Given the description of an element on the screen output the (x, y) to click on. 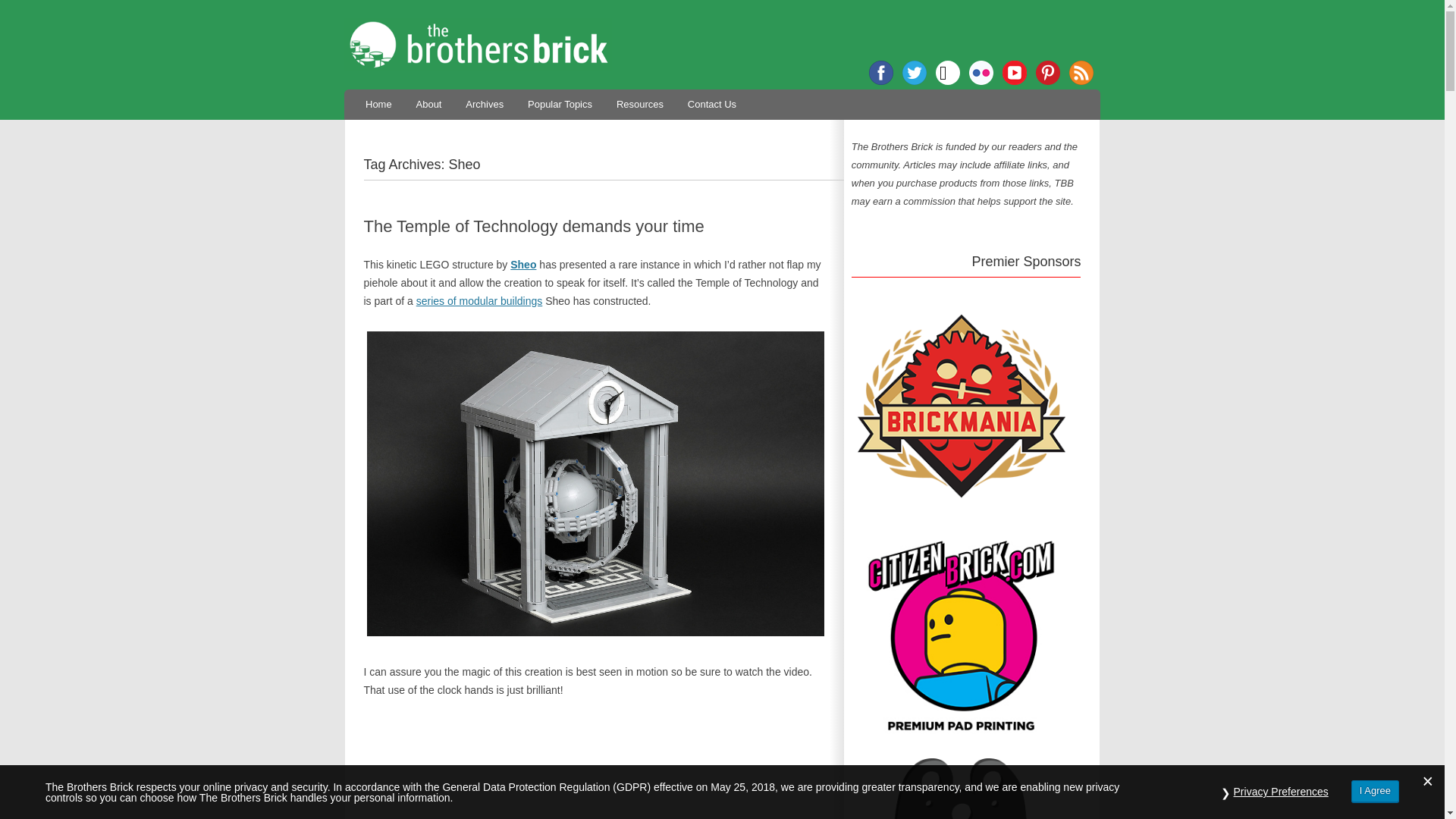
Popular Topics (559, 103)
LEGO Resources (639, 103)
Home (378, 103)
YouTube (1014, 72)
Twitter (914, 72)
Pinterest (1047, 72)
Archives (484, 103)
Skip to content (757, 94)
RSS (1080, 72)
YouTube (1014, 72)
Flickr (980, 72)
Skip to content (757, 94)
Twitter (914, 72)
Facebook (881, 72)
Instagram (947, 72)
